Given the description of an element on the screen output the (x, y) to click on. 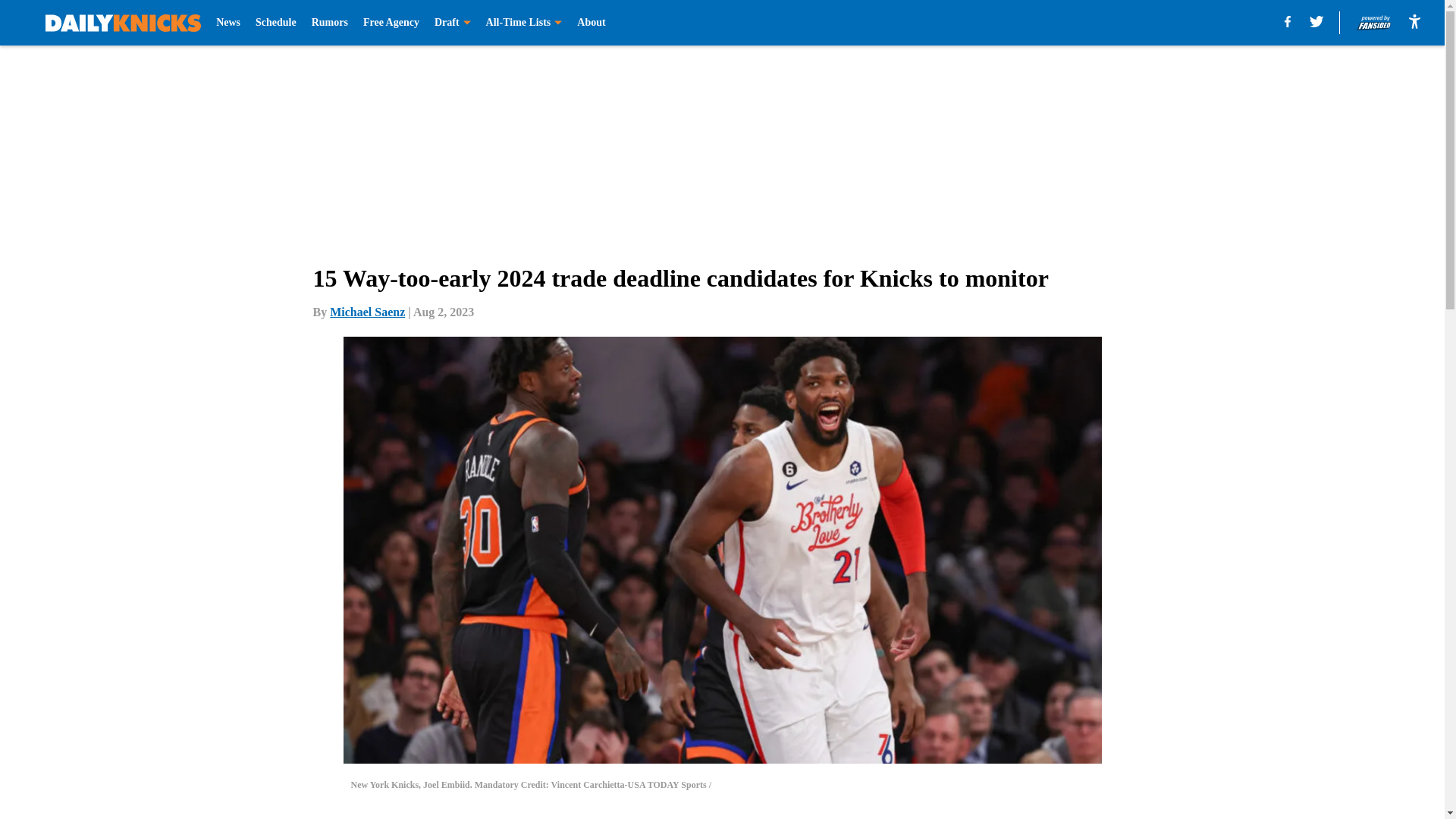
Michael Saenz (367, 311)
Free Agency (390, 22)
Schedule (276, 22)
Rumors (329, 22)
About (590, 22)
News (227, 22)
All-Time Lists (524, 22)
Draft (451, 22)
